Given the description of an element on the screen output the (x, y) to click on. 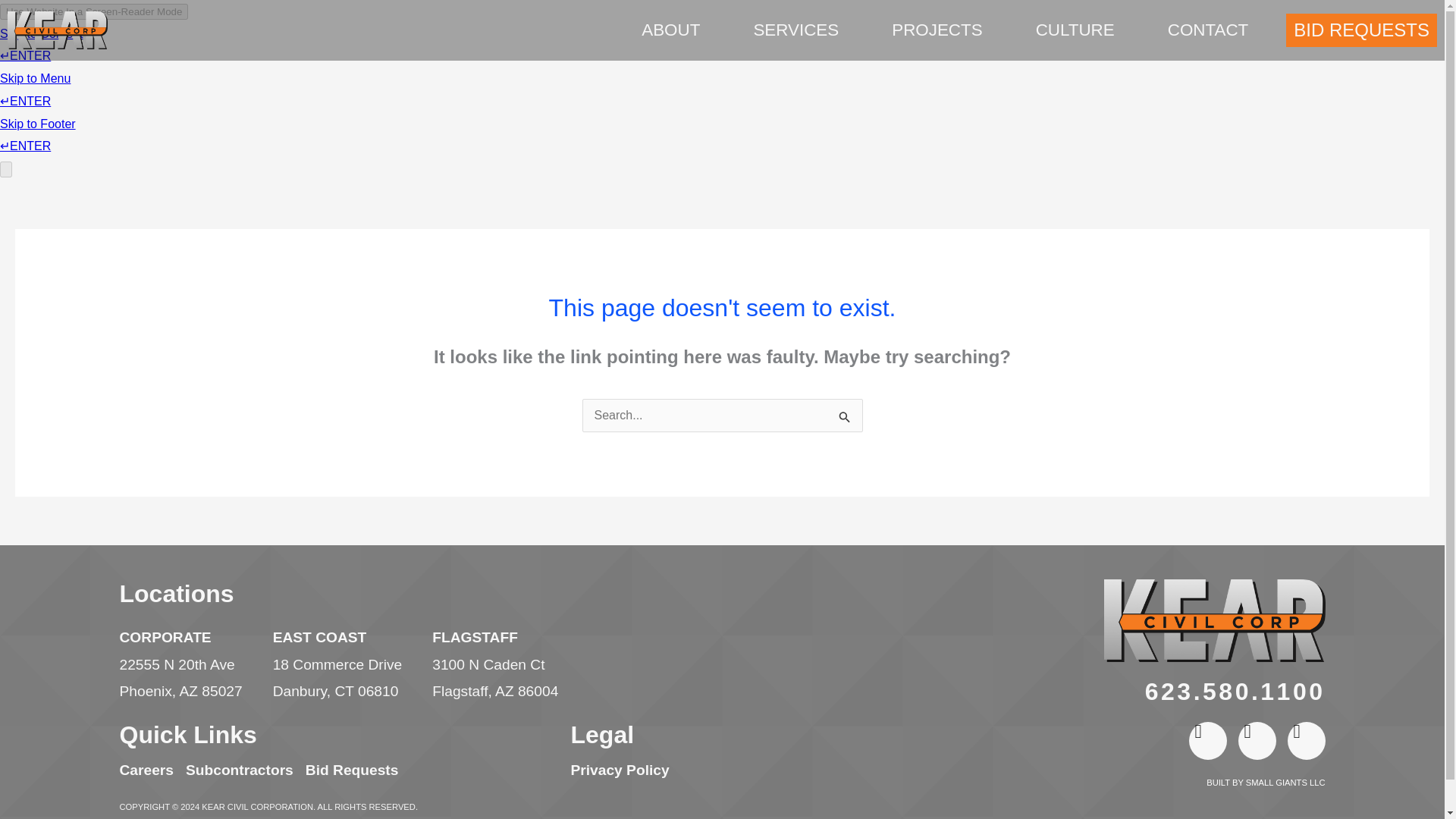
CULTURE (1078, 30)
CONTACT (1207, 30)
PROJECTS (940, 30)
SERVICES (799, 30)
ABOUT (674, 30)
BID REQUESTS (1361, 29)
